Given the description of an element on the screen output the (x, y) to click on. 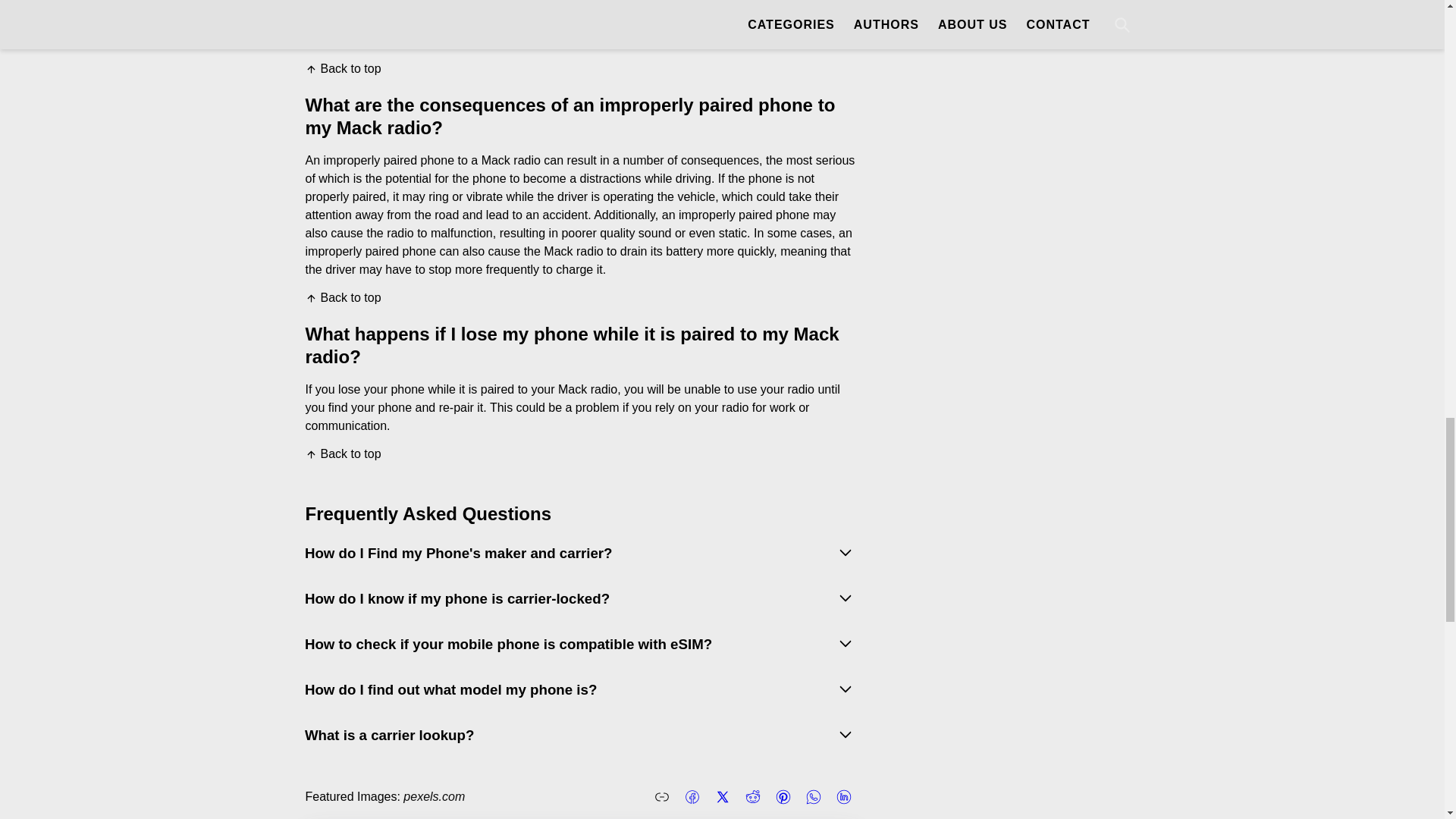
Back to top (342, 297)
Back to top (342, 454)
Back to top (342, 69)
pexels.com (433, 796)
